Given the description of an element on the screen output the (x, y) to click on. 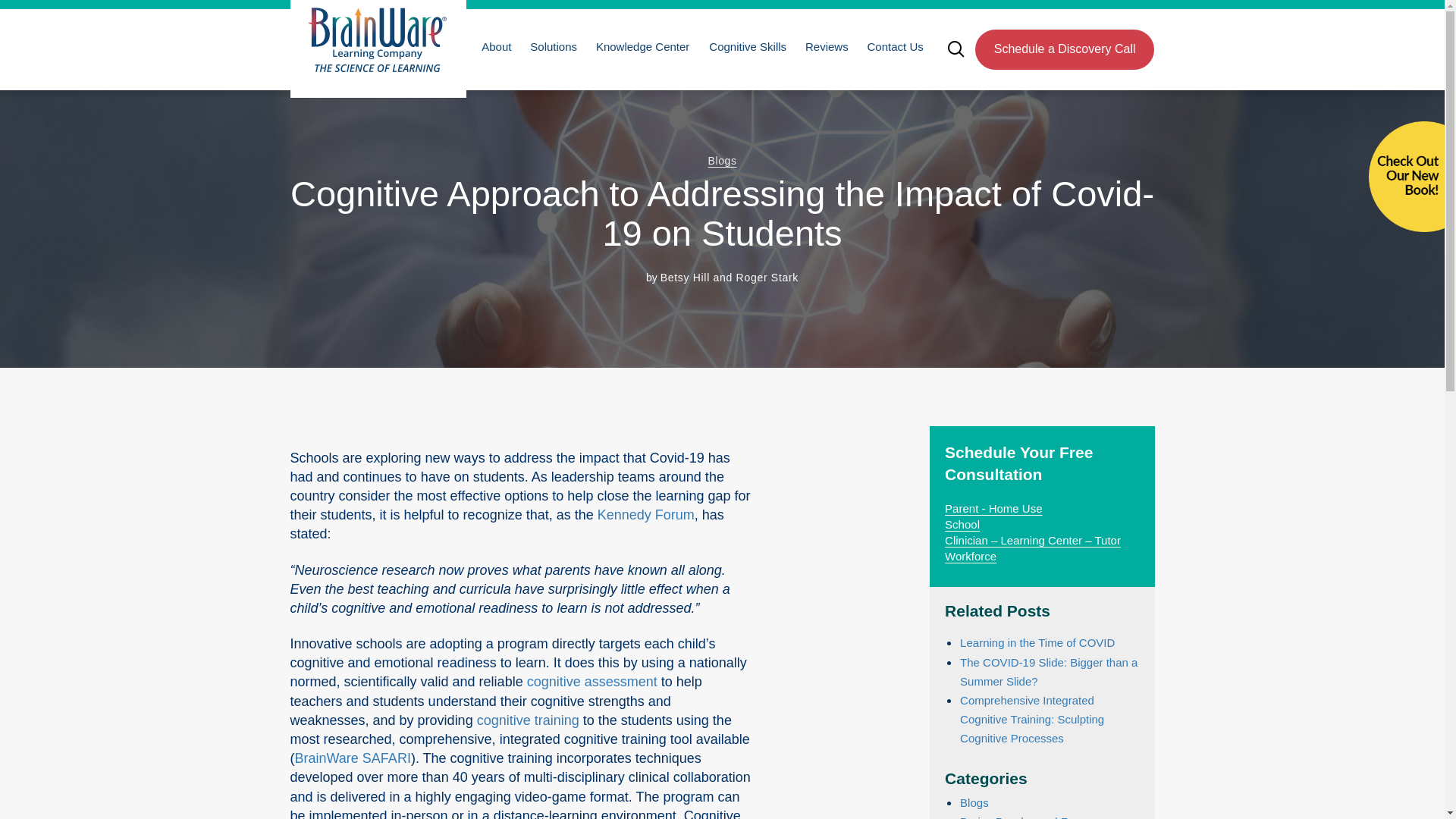
Kennedy Forum (645, 514)
Parent - Home Use (993, 508)
School (961, 523)
BrainWare SAFARI (352, 758)
Reviews (825, 46)
Contact Us (894, 46)
Knowledge Center (641, 46)
cognitive assessment (590, 681)
Cognitive Skills (745, 46)
Learning in the Time of COVID (1037, 642)
